Given the description of an element on the screen output the (x, y) to click on. 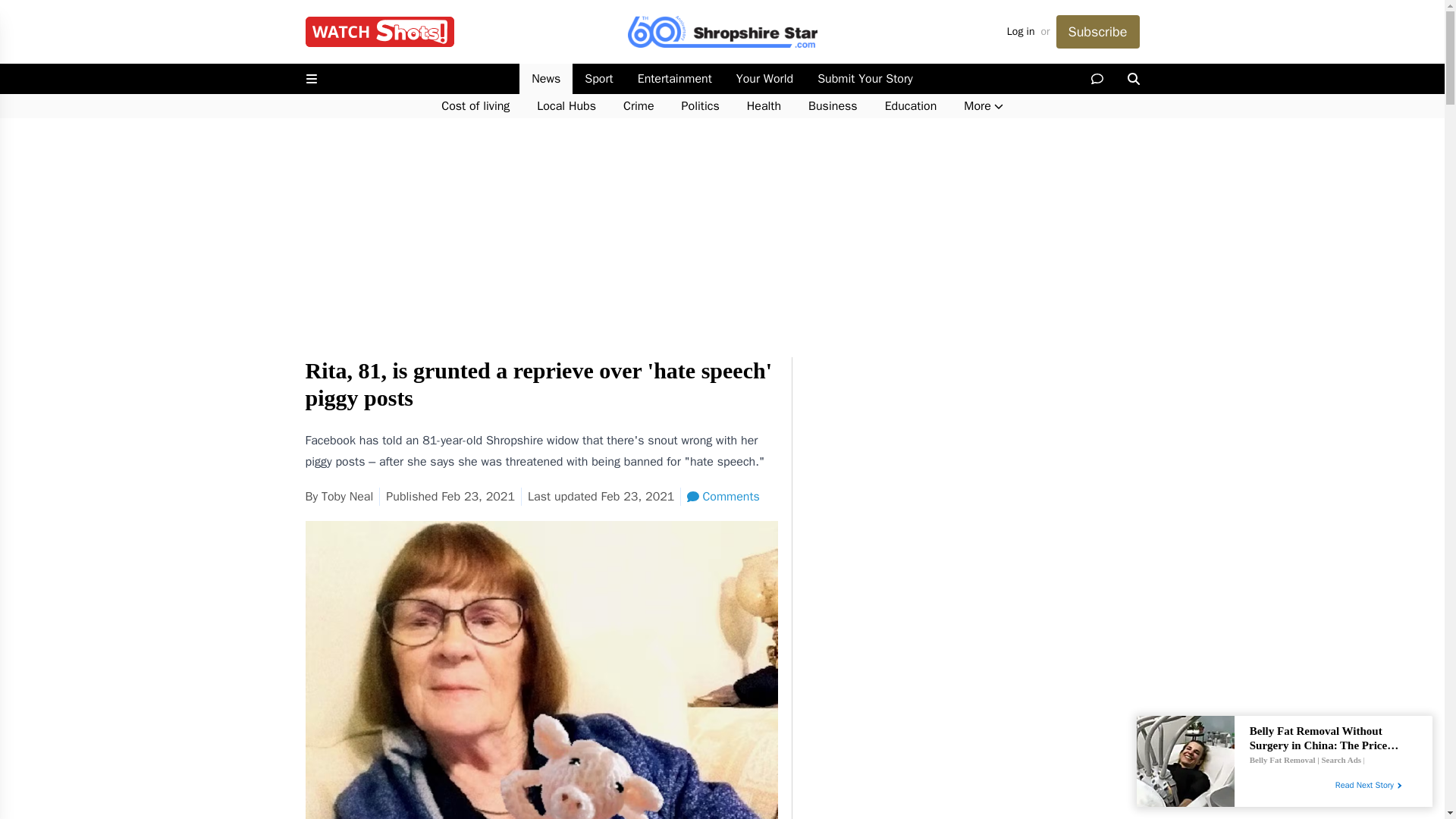
Education (910, 105)
Health (764, 105)
More (983, 105)
Business (832, 105)
Your World (764, 78)
Entertainment (674, 78)
Sport (598, 78)
Submit Your Story (864, 78)
Crime (638, 105)
Subscribe (1096, 31)
Log in (1021, 31)
Local Hubs (566, 105)
Politics (700, 105)
News (545, 78)
Cost of living (475, 105)
